Given the description of an element on the screen output the (x, y) to click on. 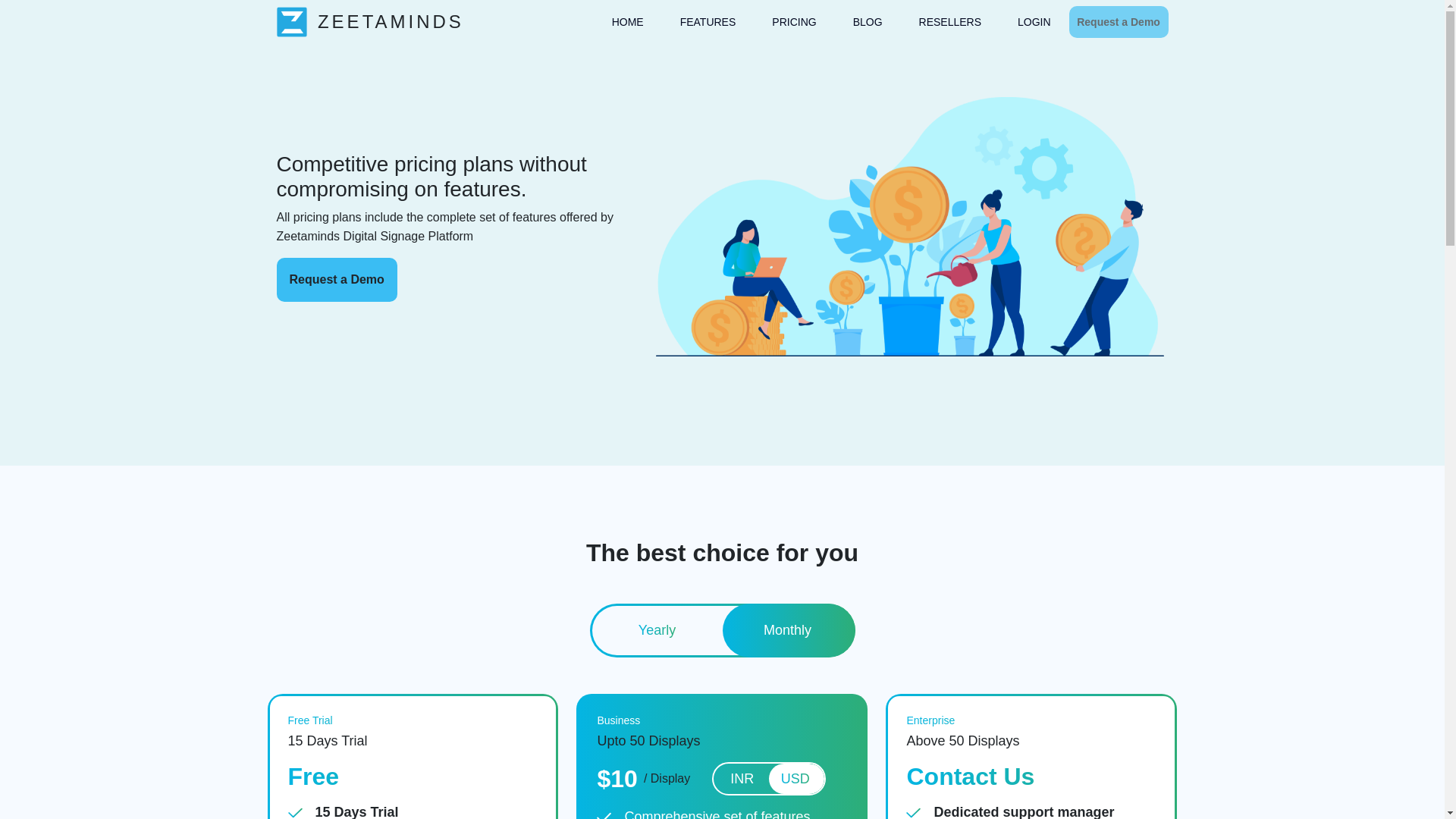
LOGIN (1034, 22)
BLOG (867, 22)
Request a Demo (336, 279)
PRICING (793, 22)
RESELLERS (949, 22)
ZEETAMINDS (369, 20)
HOME (627, 22)
INR (742, 778)
FEATURES (707, 22)
Yearly (656, 630)
